Given the description of an element on the screen output the (x, y) to click on. 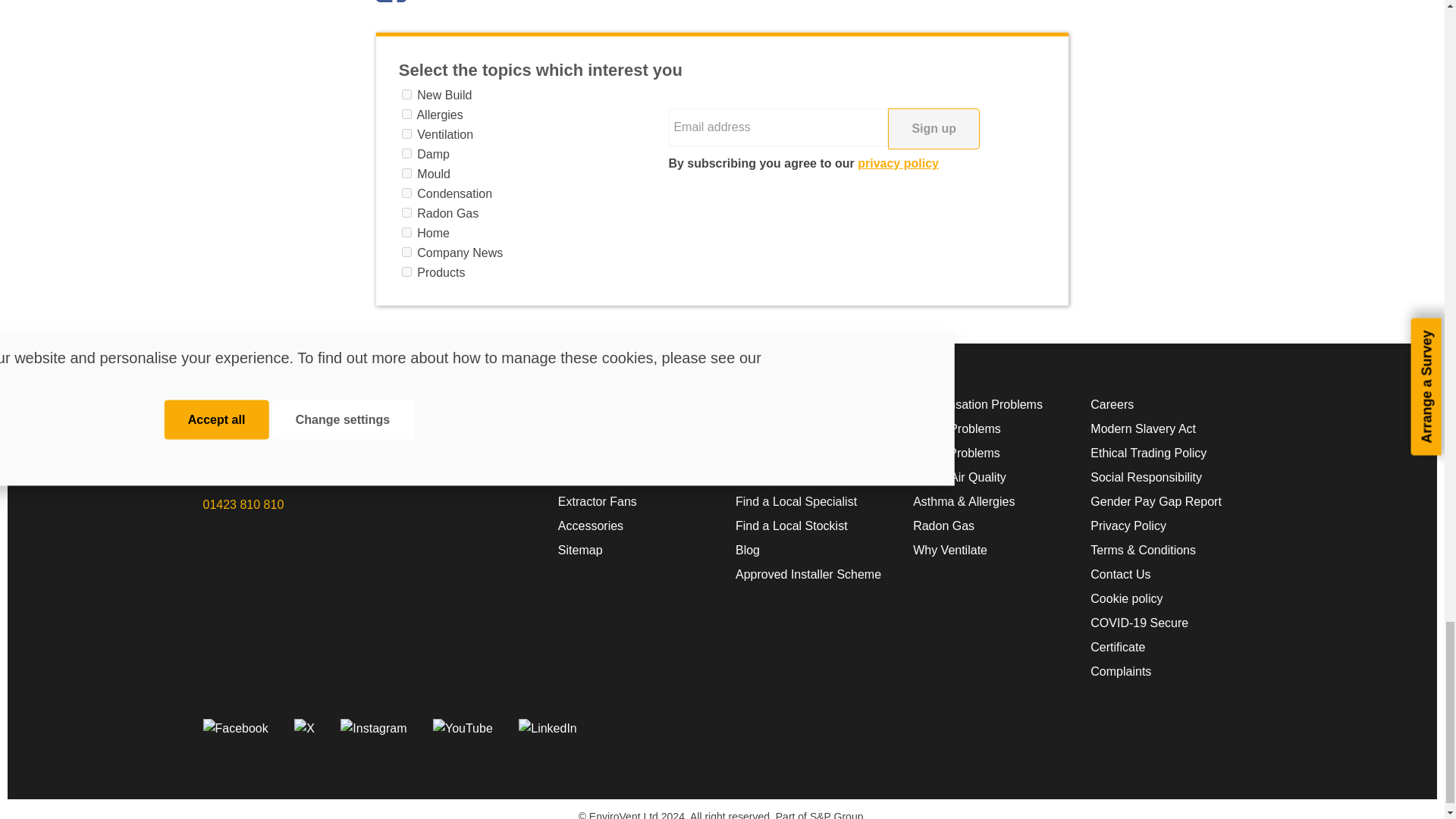
Allergies (406, 113)
Ventilation (406, 133)
Home (406, 232)
Mould (406, 173)
Damp (406, 153)
Products (406, 271)
Company News (406, 252)
Condensation (406, 193)
Radon Gas (406, 212)
New Build (406, 94)
